Given the description of an element on the screen output the (x, y) to click on. 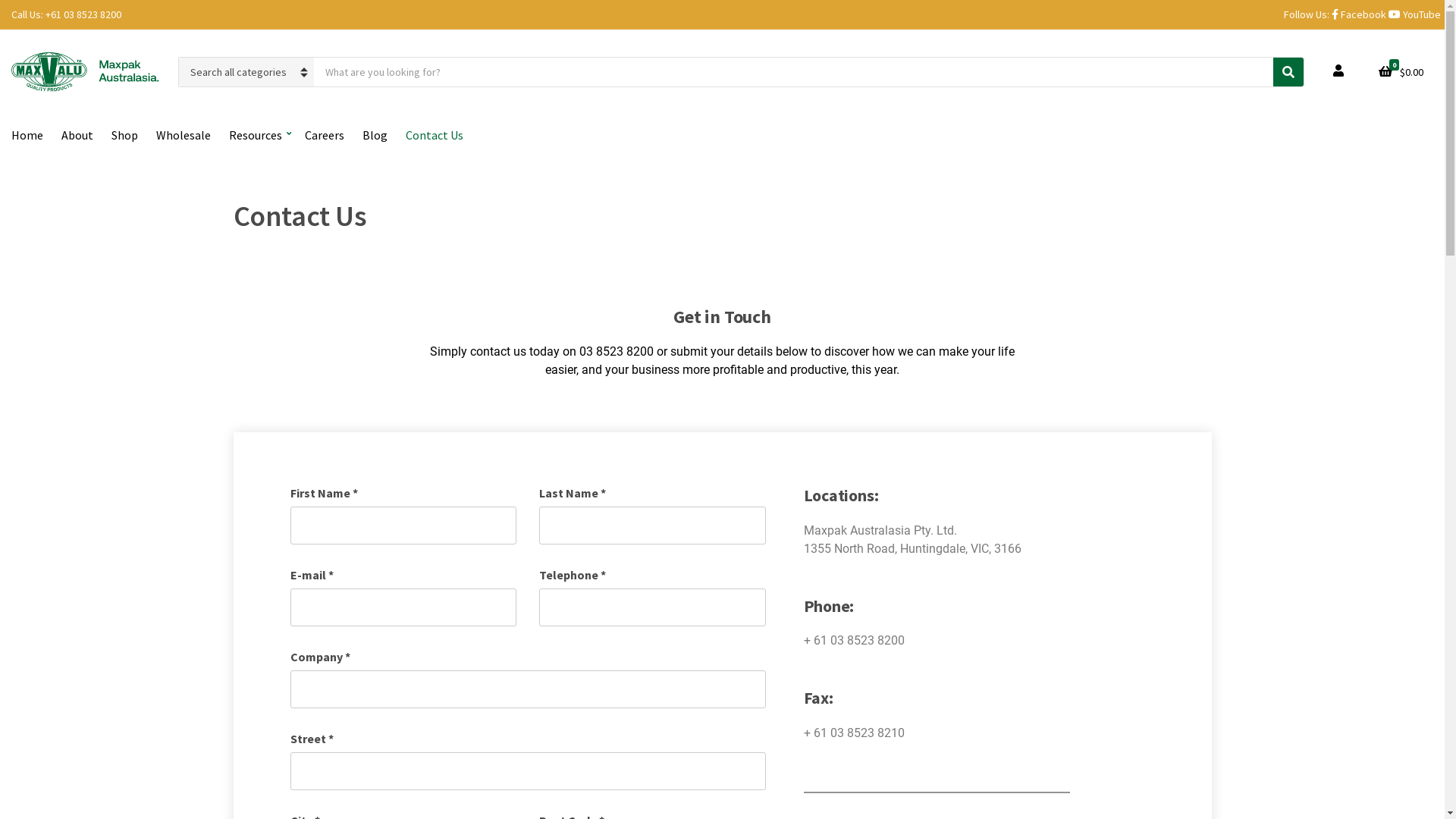
 YouTube Element type: text (1414, 14)
0
$0.00 Element type: text (1400, 71)
Home Element type: text (27, 134)
 Facebook Element type: text (1358, 14)
Blog Element type: text (374, 134)
Search Element type: text (1288, 71)
Resources Element type: text (257, 134)
Wholesale Element type: text (183, 134)
About Element type: text (77, 134)
Careers Element type: text (324, 134)
Shop Element type: text (124, 134)
Contact Us Element type: text (434, 134)
